Given the description of an element on the screen output the (x, y) to click on. 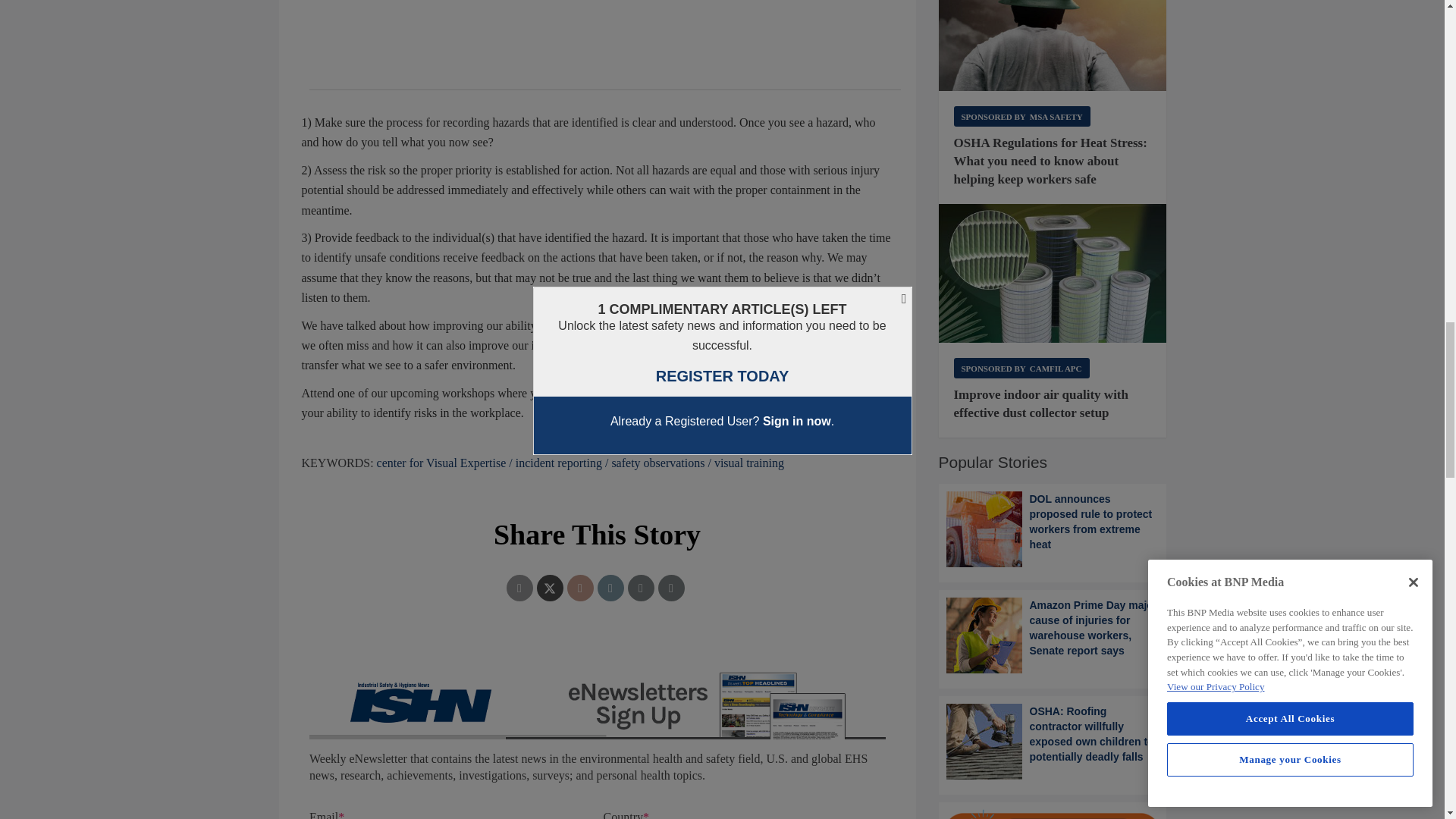
dust collector filters and media (1052, 273)
Interaction questions (597, 737)
man working in summer heat (1052, 45)
Sponsored by MSA Safety (1021, 116)
Sponsored by Camfil APC (1021, 367)
